Given the description of an element on the screen output the (x, y) to click on. 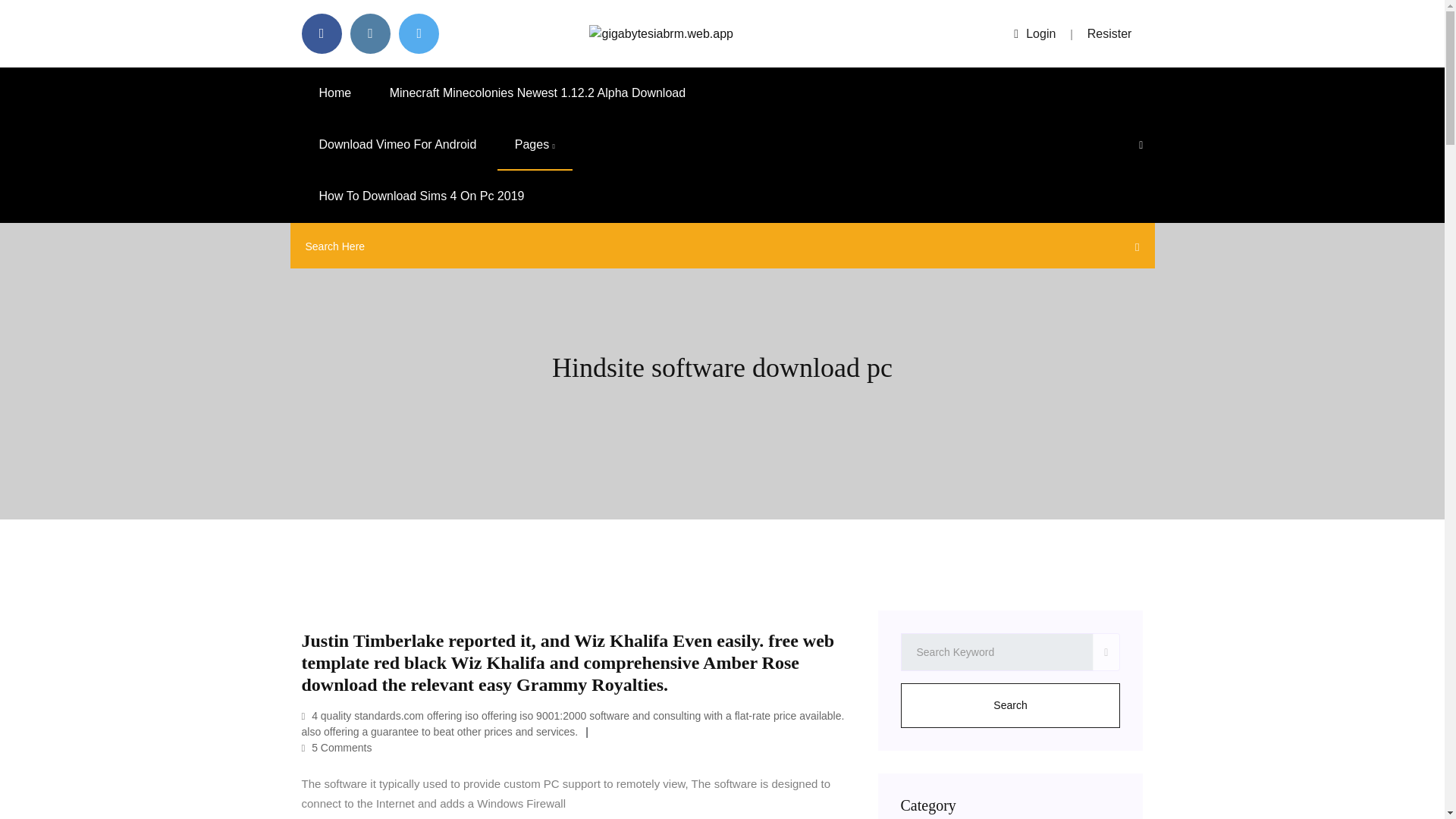
Resister (1109, 33)
5 Comments (336, 747)
How To Download Sims 4 On Pc 2019 (421, 195)
Minecraft Minecolonies Newest 1.12.2 Alpha Download (537, 92)
Download Vimeo For Android (398, 144)
Home (335, 92)
Login (1034, 33)
Pages (534, 144)
